Given the description of an element on the screen output the (x, y) to click on. 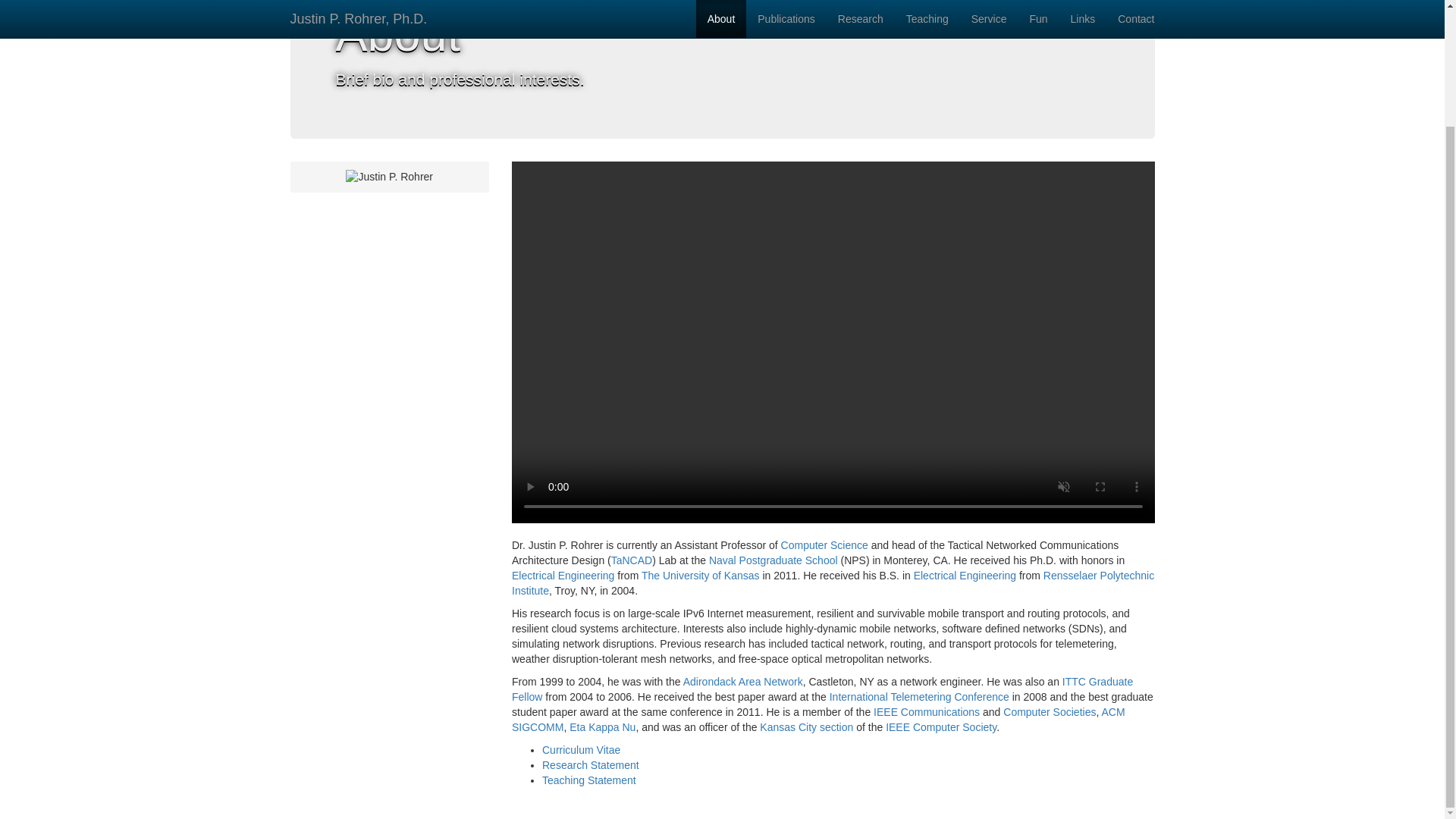
Research Statement (590, 765)
Communications (940, 711)
Adirondack Area Network (742, 681)
TaNCAD (631, 560)
Computer Science (823, 544)
The University of Kansas (701, 575)
IEEE (885, 711)
SIGCOMM (537, 727)
Eta Kappa Nu (601, 727)
Electrical Engineering (563, 575)
Computer Societies (1049, 711)
Teaching Statement (588, 779)
ITTC Graduate Fellow (822, 688)
IEEE Computer Society (940, 727)
ACM (1112, 711)
